Given the description of an element on the screen output the (x, y) to click on. 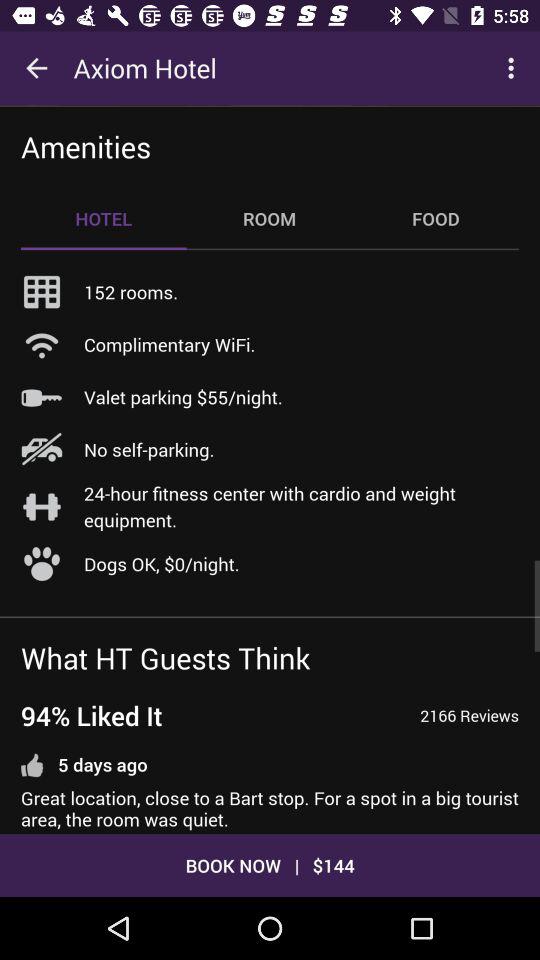
turn off the icon below 24 hour fitness item (161, 563)
